Given the description of an element on the screen output the (x, y) to click on. 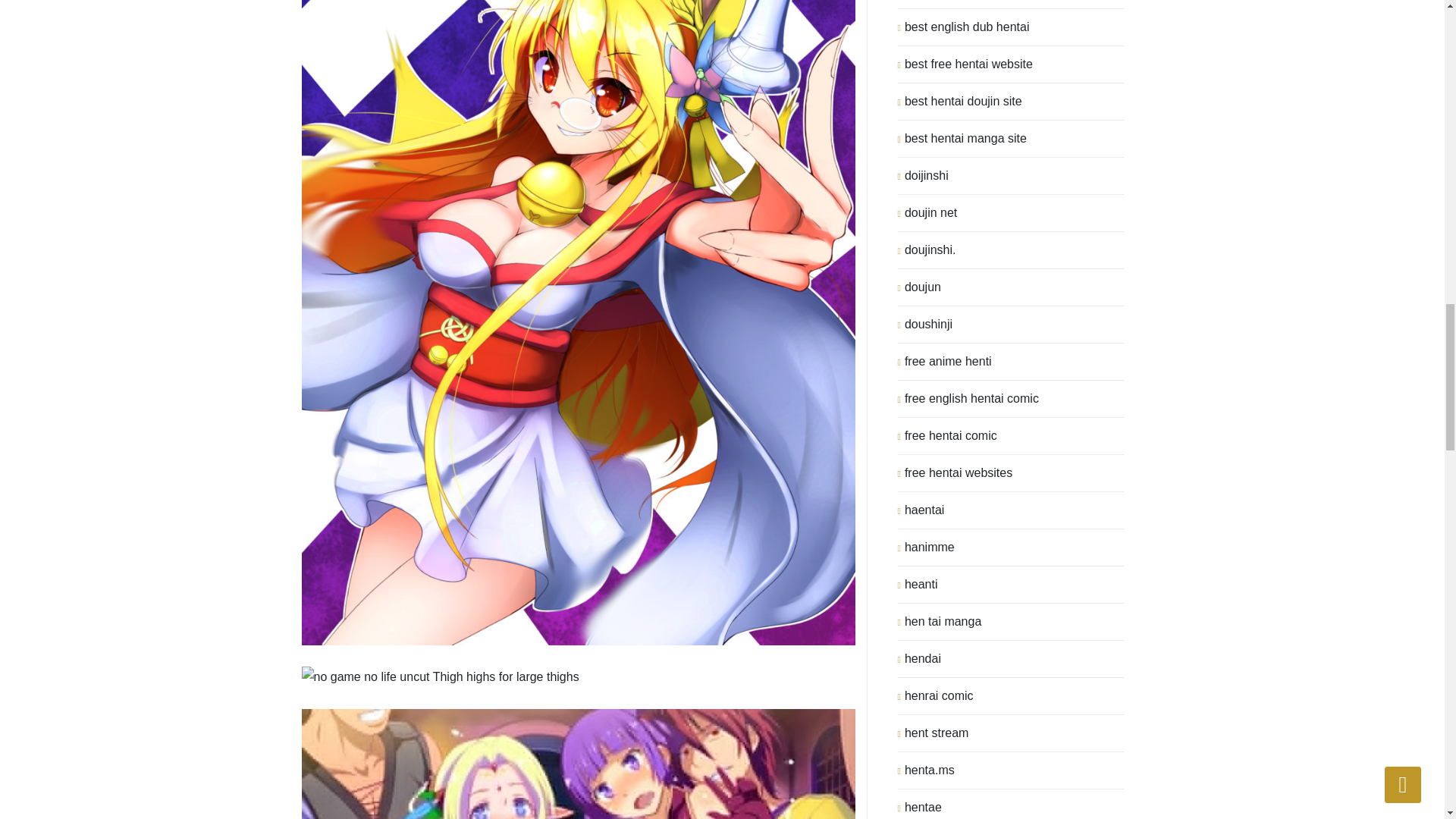
best free hentai website (968, 63)
best hentai doujin site (963, 101)
best doujinshi sites (955, 4)
best english dub hentai (966, 27)
